Given the description of an element on the screen output the (x, y) to click on. 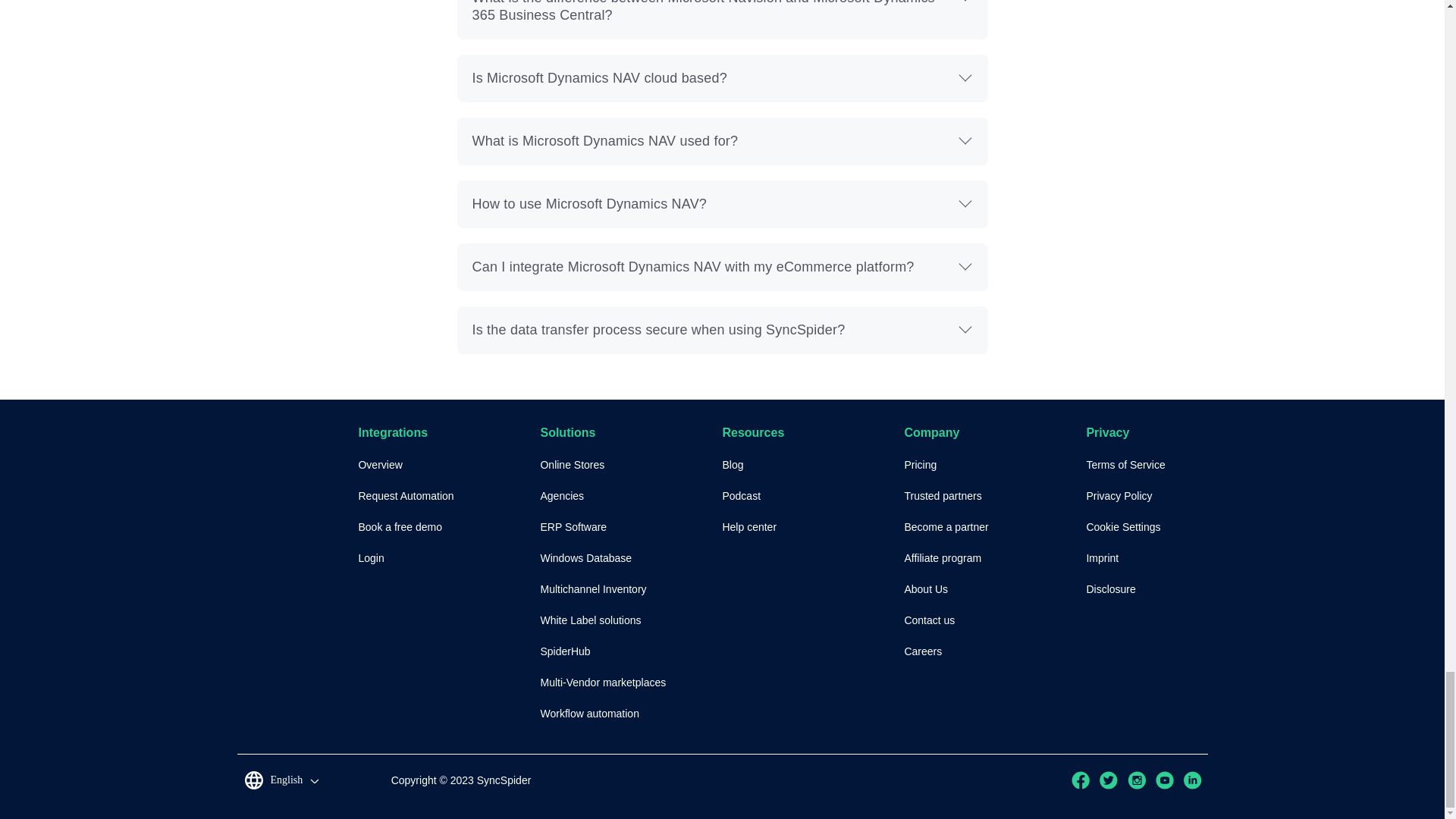
Login (449, 558)
Book a free demo (449, 526)
Overview (449, 464)
Request Automation (449, 495)
